Given the description of an element on the screen output the (x, y) to click on. 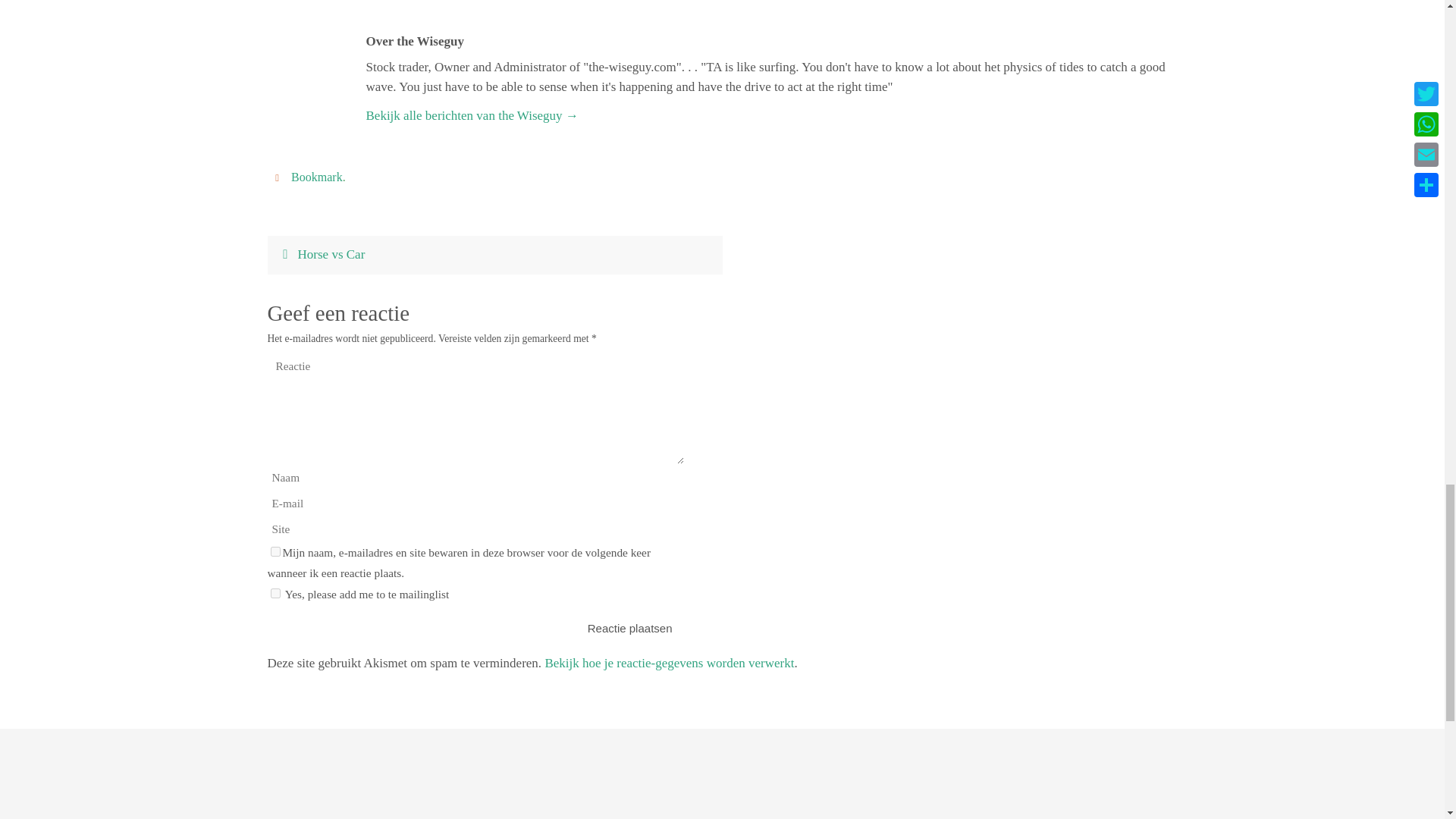
1 (274, 593)
yes (274, 551)
Reactie plaatsen (629, 627)
 Bookmark de permalink (278, 176)
